Given the description of an element on the screen output the (x, y) to click on. 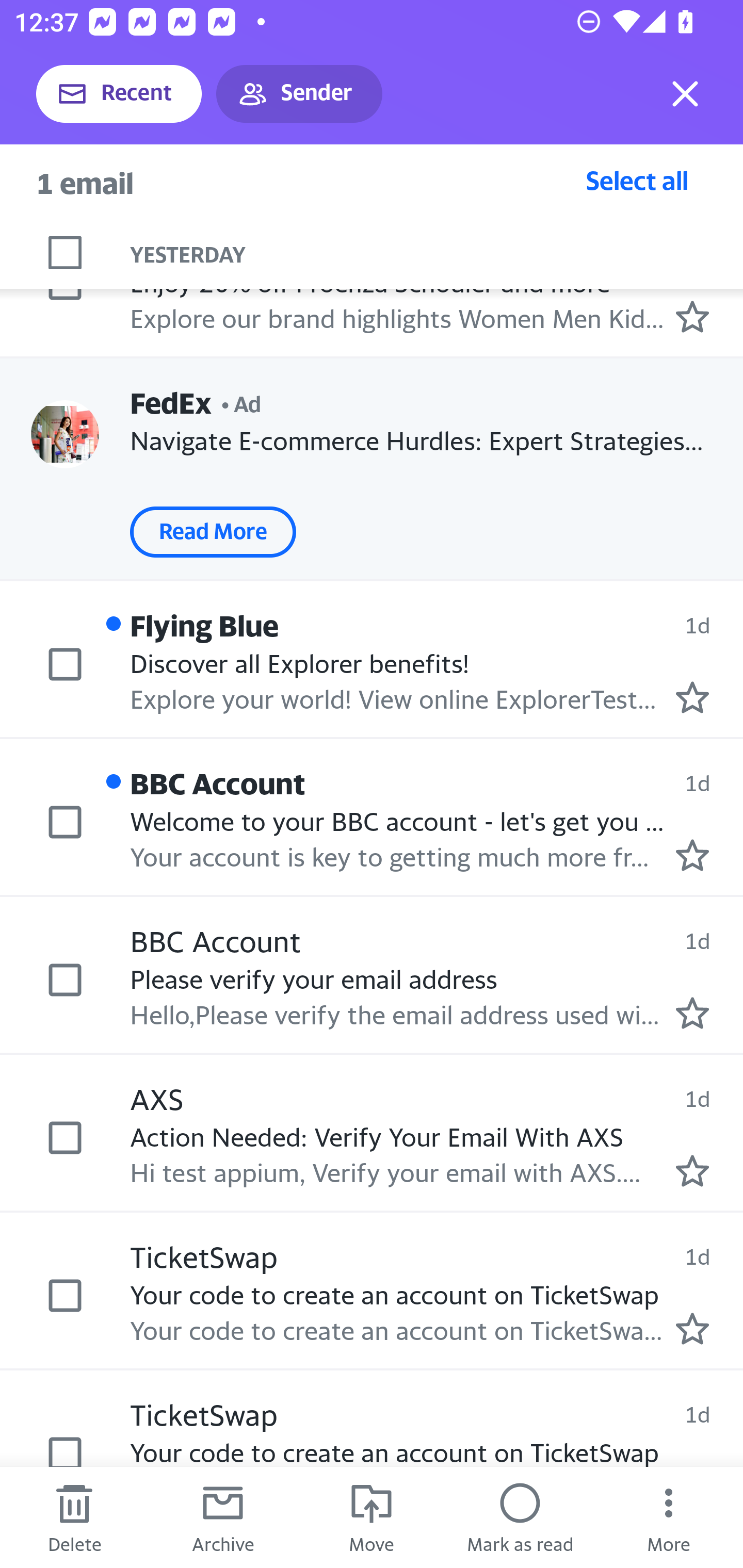
Sender (299, 93)
Exit selection mode (684, 93)
Select all (637, 180)
Mark as starred. (692, 315)
Mark as starred. (692, 696)
Mark as starred. (692, 855)
Mark as starred. (692, 1013)
Mark as starred. (692, 1170)
Mark as starred. (692, 1328)
Delete (74, 1517)
Archive (222, 1517)
Move (371, 1517)
Mark as read (519, 1517)
More (668, 1517)
